Given the description of an element on the screen output the (x, y) to click on. 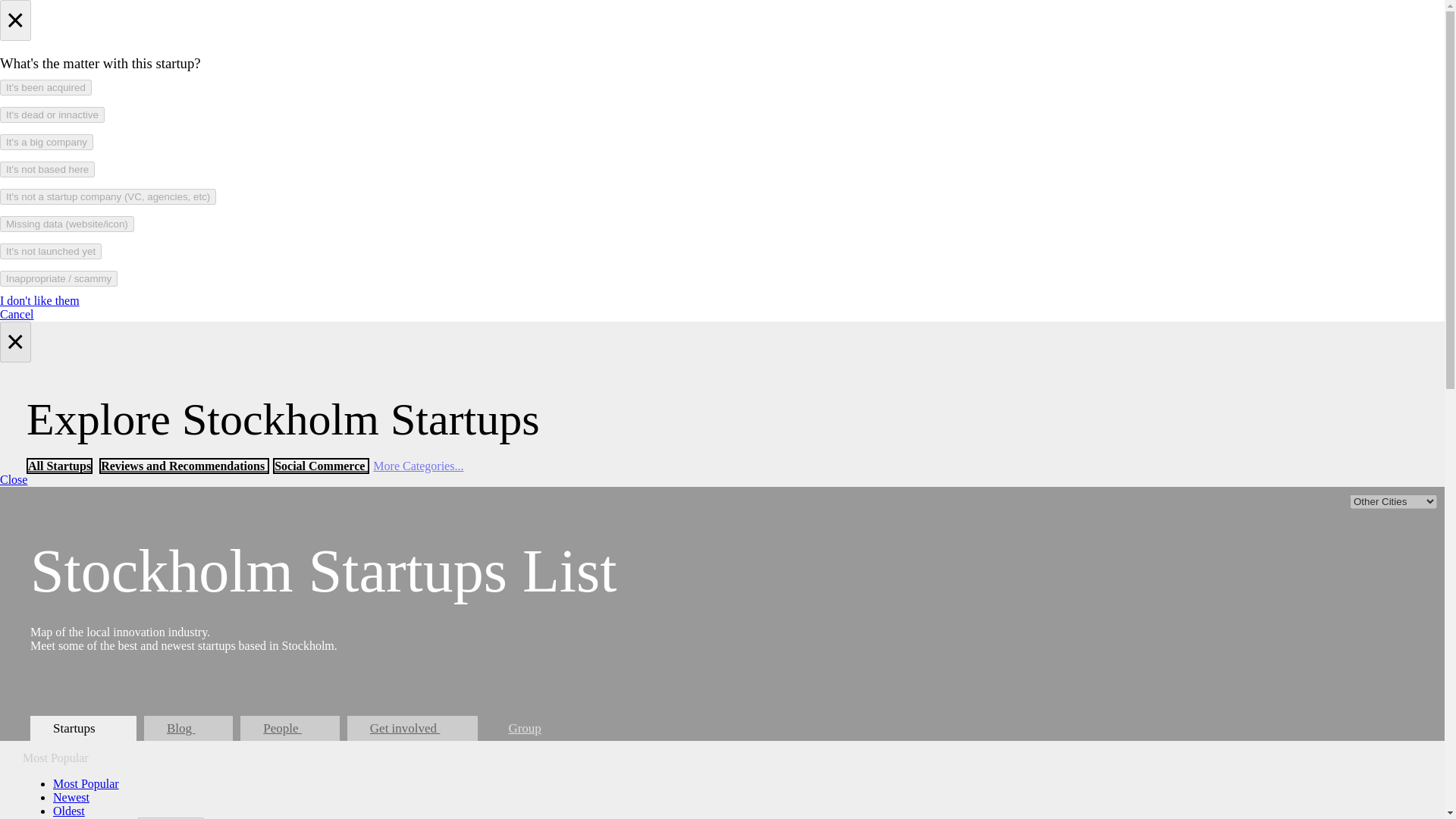
It's dead or innactive (52, 114)
It's been acquired (45, 87)
It's a big company (46, 141)
Social Commerce (321, 465)
Close (13, 479)
I don't like them (40, 300)
More Categories... (417, 465)
It's not launched yet (50, 251)
All Startups (59, 465)
Reviews and Recommendations (184, 465)
